Given the description of an element on the screen output the (x, y) to click on. 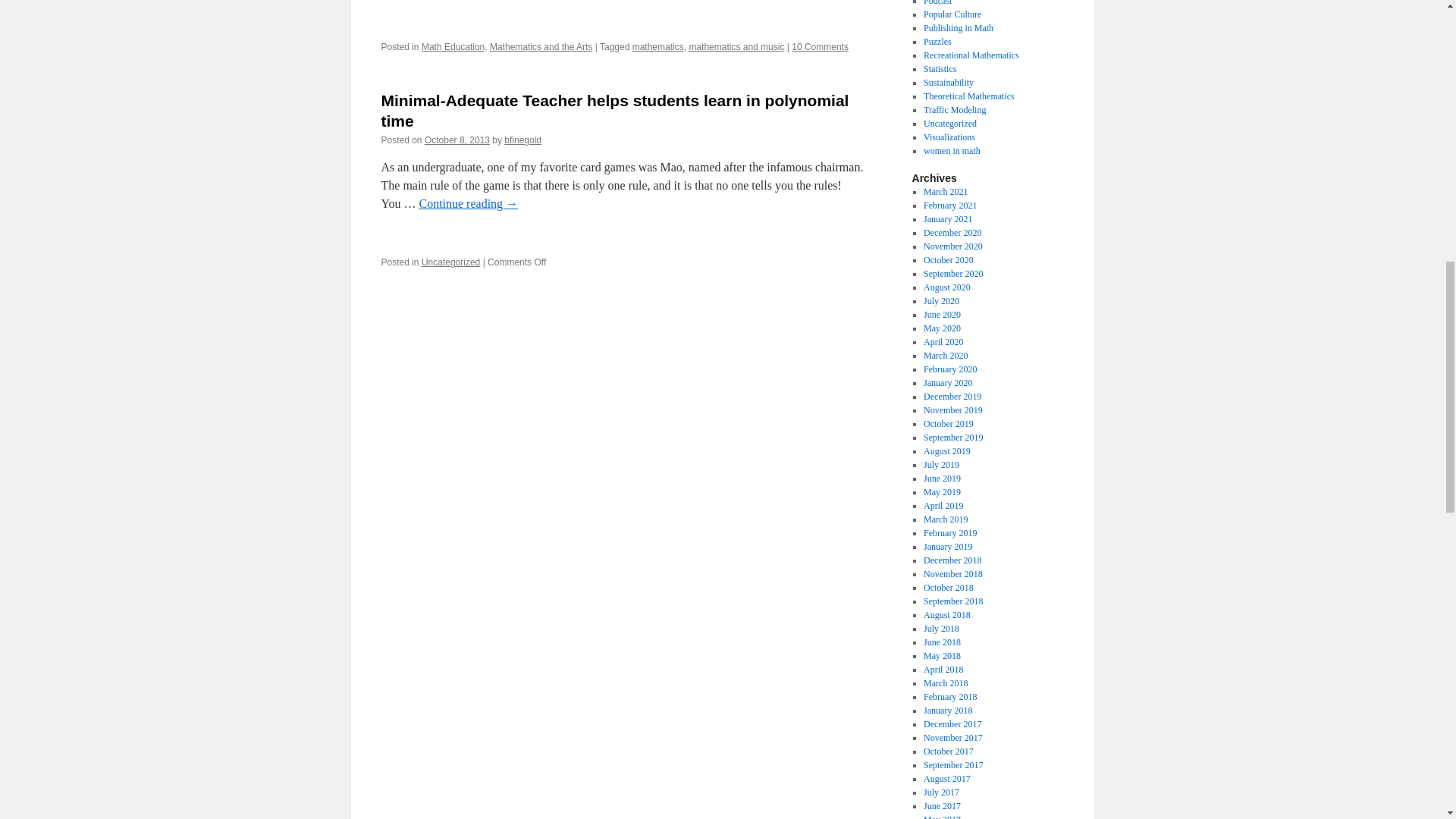
Uncategorized (451, 262)
3:25 am (457, 140)
bfinegold (522, 140)
mathematics and music (736, 46)
mathematics (657, 46)
Math Education (453, 46)
October 8, 2013 (457, 140)
View all posts by bfinegold (522, 140)
Mathematics and the Arts (540, 46)
